Given the description of an element on the screen output the (x, y) to click on. 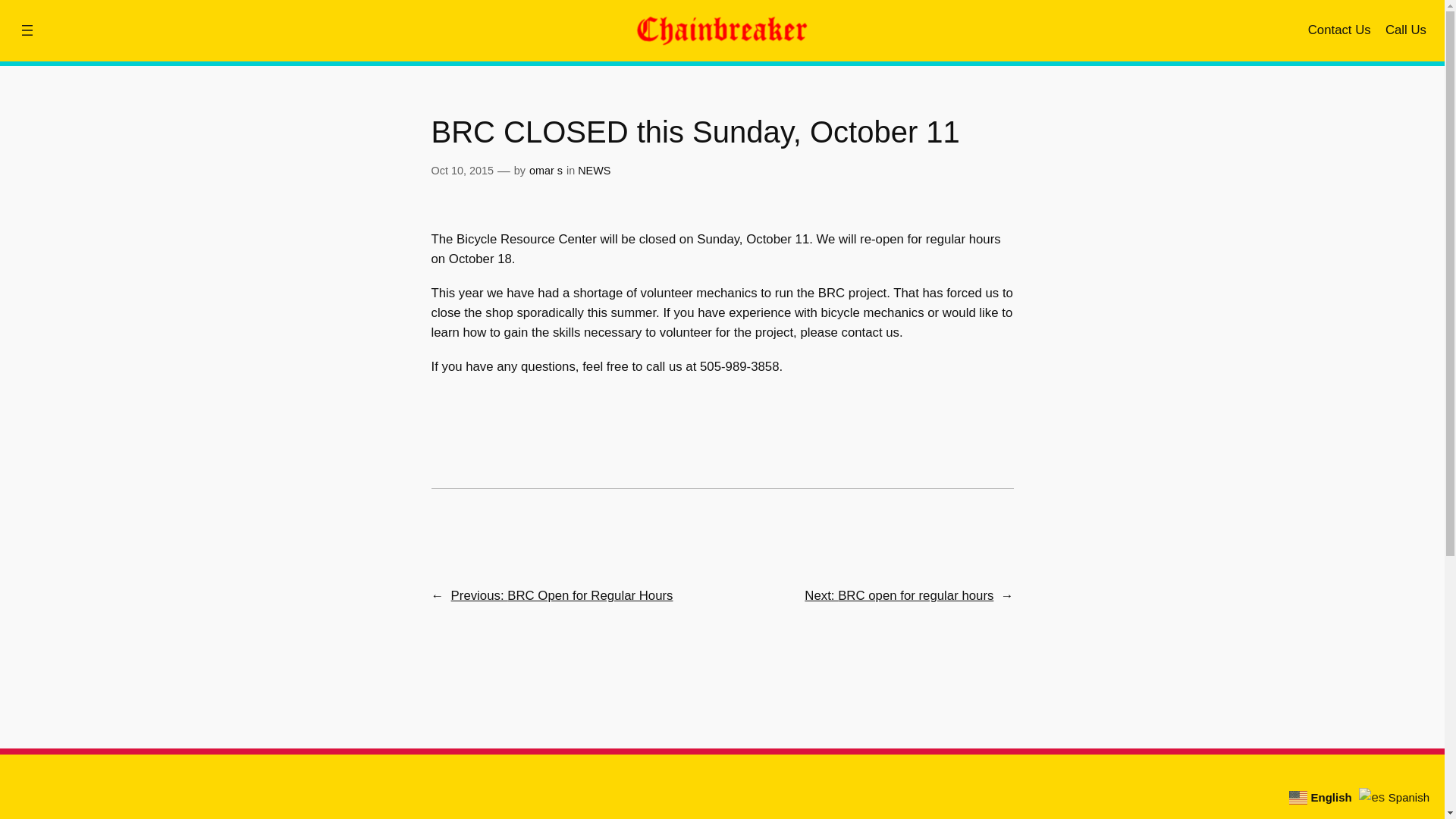
Contact Us (1339, 30)
Call Us (1406, 30)
Previous: BRC Open for Regular Hours (561, 595)
Oct 10, 2015 (461, 170)
NEWS (594, 170)
omar s (545, 170)
Next: BRC open for regular hours (898, 595)
